Given the description of an element on the screen output the (x, y) to click on. 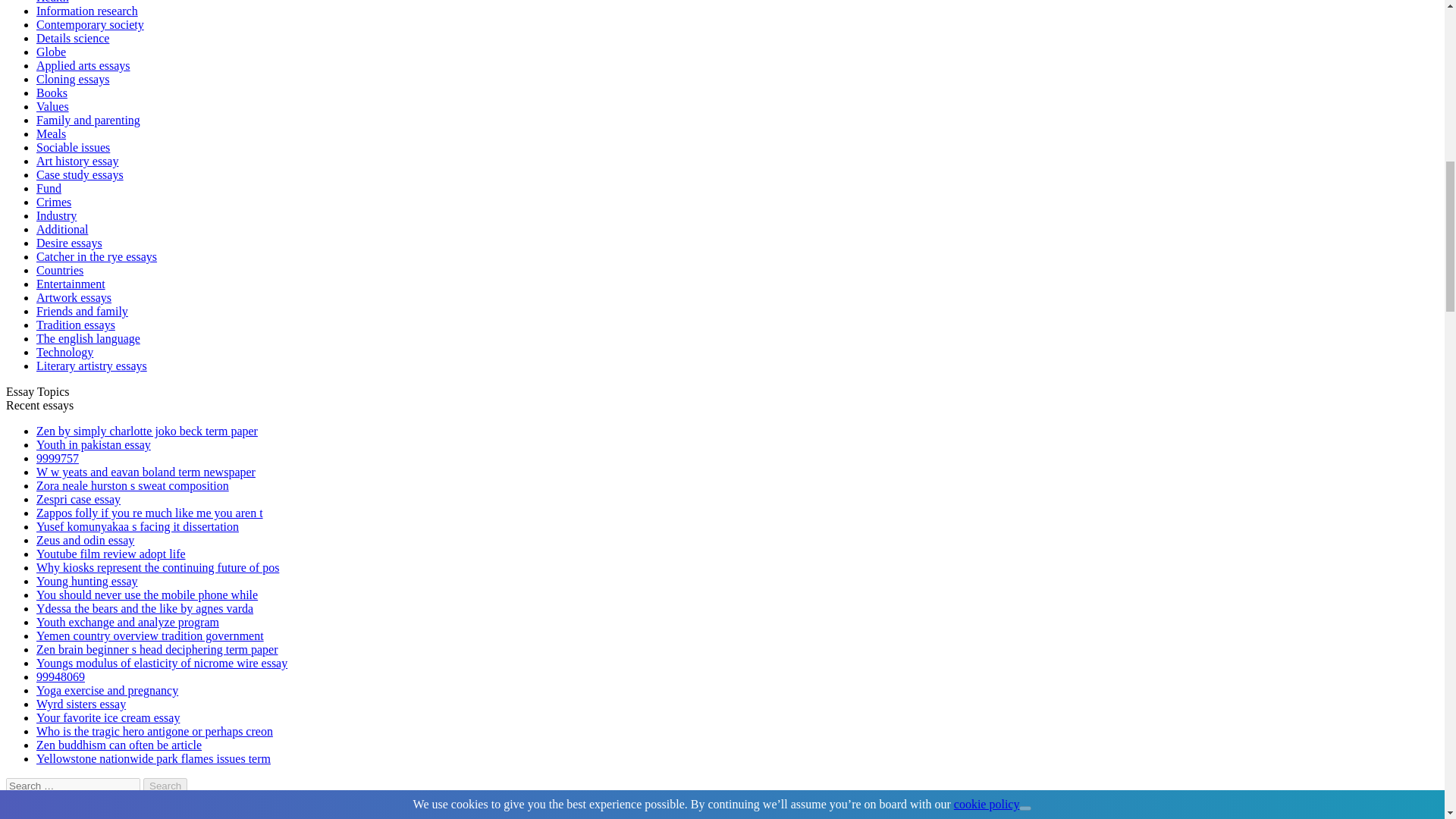
Values (52, 106)
Health (52, 2)
Contemporary society (90, 24)
Books (51, 92)
Art history essay (76, 160)
Globe (50, 51)
Search (164, 785)
Information research (87, 10)
Family and parenting (87, 119)
Sociable issues (73, 146)
